Given the description of an element on the screen output the (x, y) to click on. 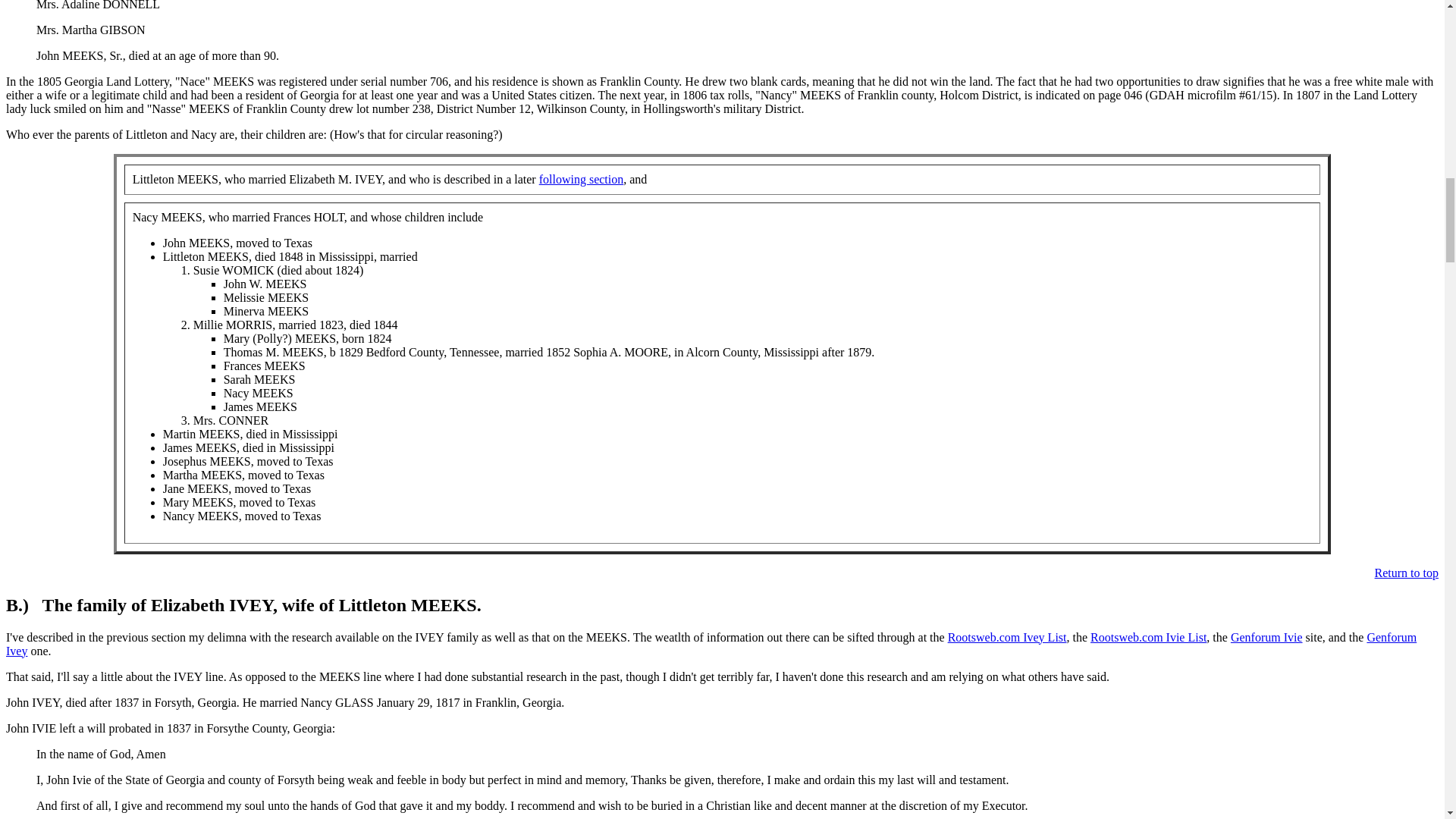
Rootsweb.com Ivey List (1007, 636)
Genforum Ivie (1266, 636)
Genforum Ivey (710, 643)
Return to top (1406, 572)
following section (581, 178)
Rootsweb.com Ivie List (1148, 636)
